Given the description of an element on the screen output the (x, y) to click on. 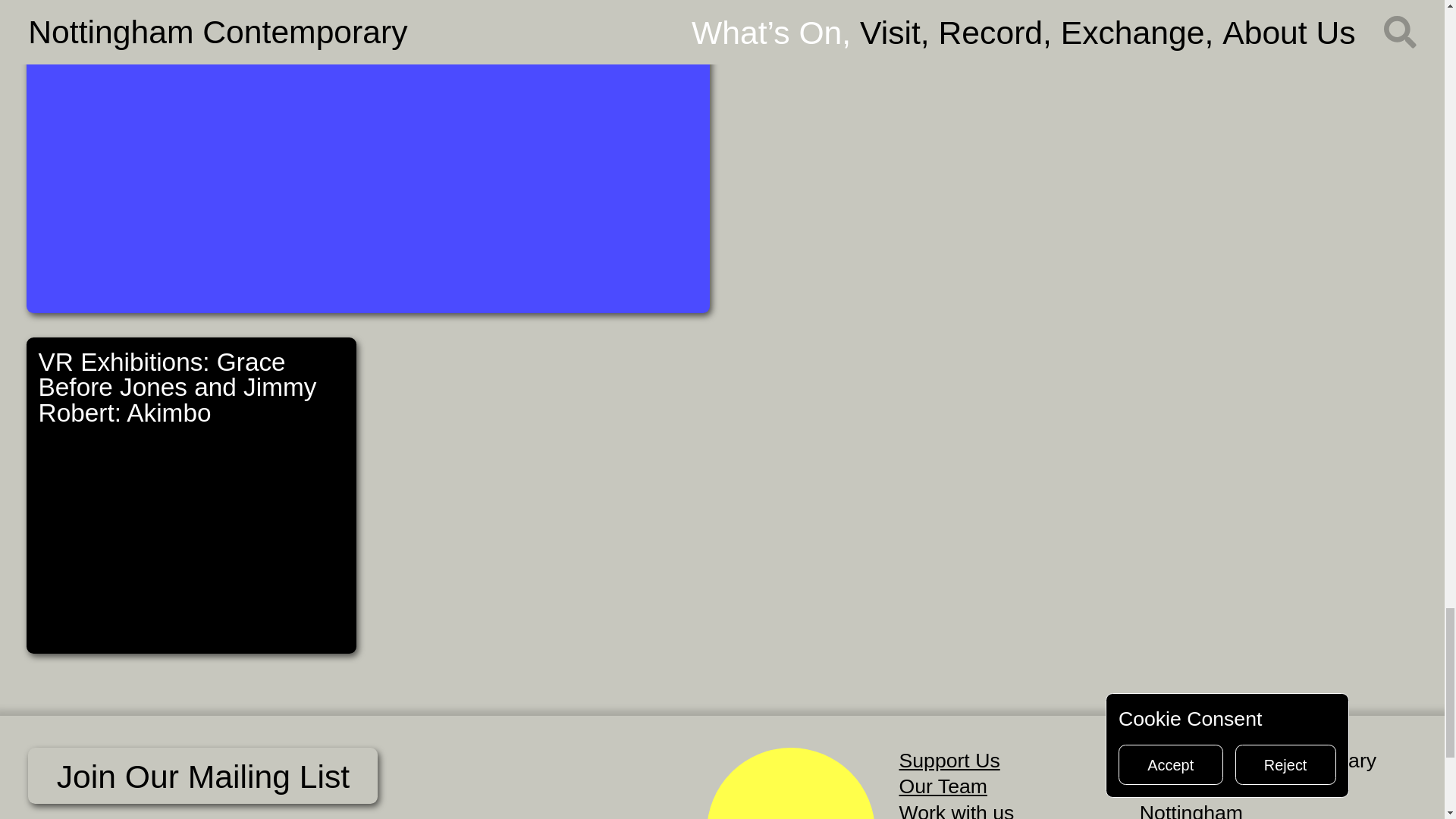
VR Exhibitions: Grace Before Jones and Jimmy Robert: Akimbo (191, 495)
Join Our Mailing List (202, 775)
Our Team (943, 785)
Work with us (956, 810)
SUPPORT (790, 783)
